Given the description of an element on the screen output the (x, y) to click on. 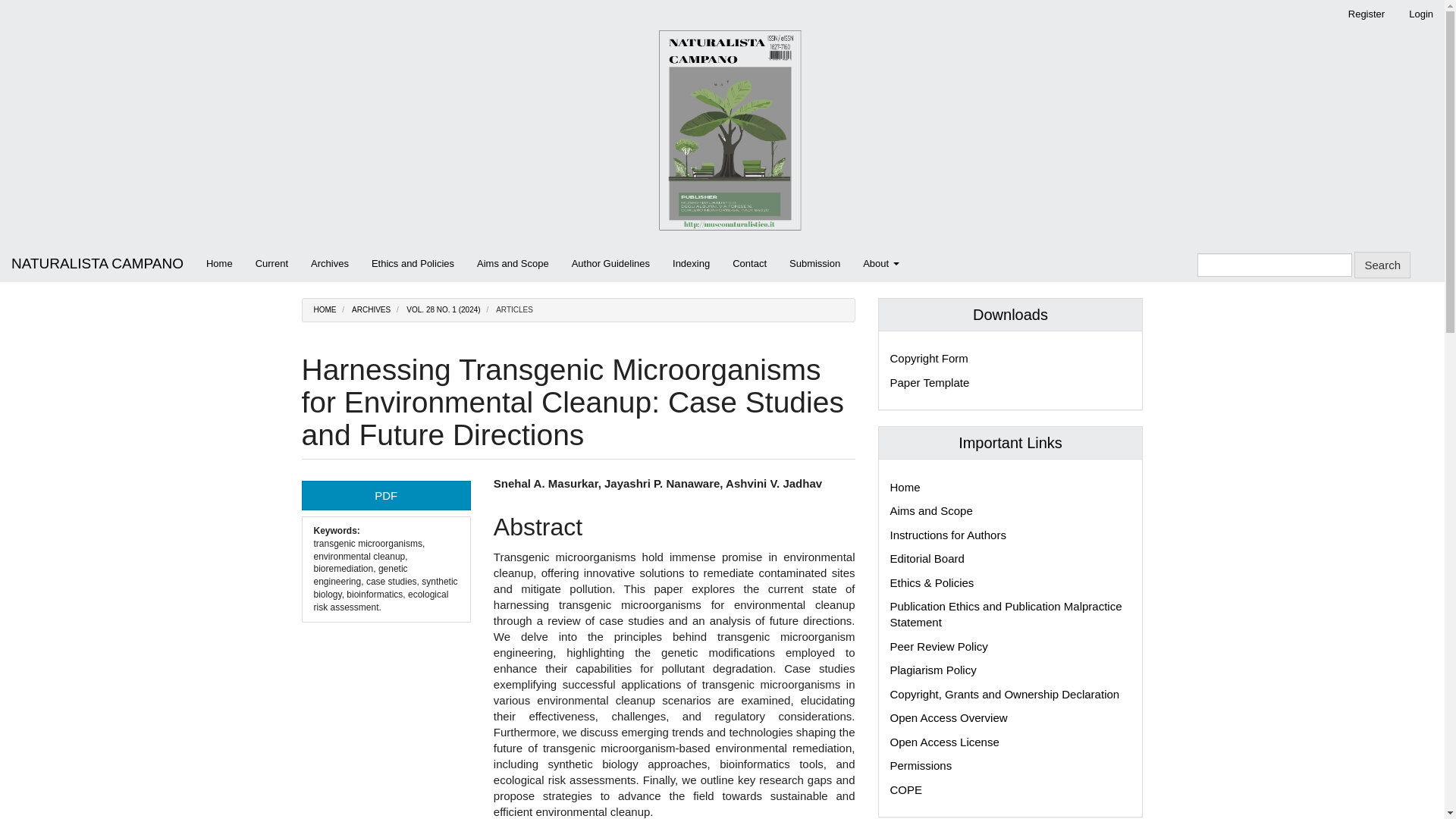
Archives (329, 263)
Contact (748, 263)
Home (904, 486)
PDF (385, 495)
Paper Template (929, 382)
Peer Review Policy (938, 645)
Indexing (690, 263)
Home (219, 263)
Copyright Form (928, 358)
NATURALISTA CAMPANO (97, 263)
Aims and Scope (930, 510)
Search (1382, 264)
Submission (814, 263)
Plagiarism Policy (932, 669)
Copyright, Grants and Ownership Declaration (1004, 694)
